Given the description of an element on the screen output the (x, y) to click on. 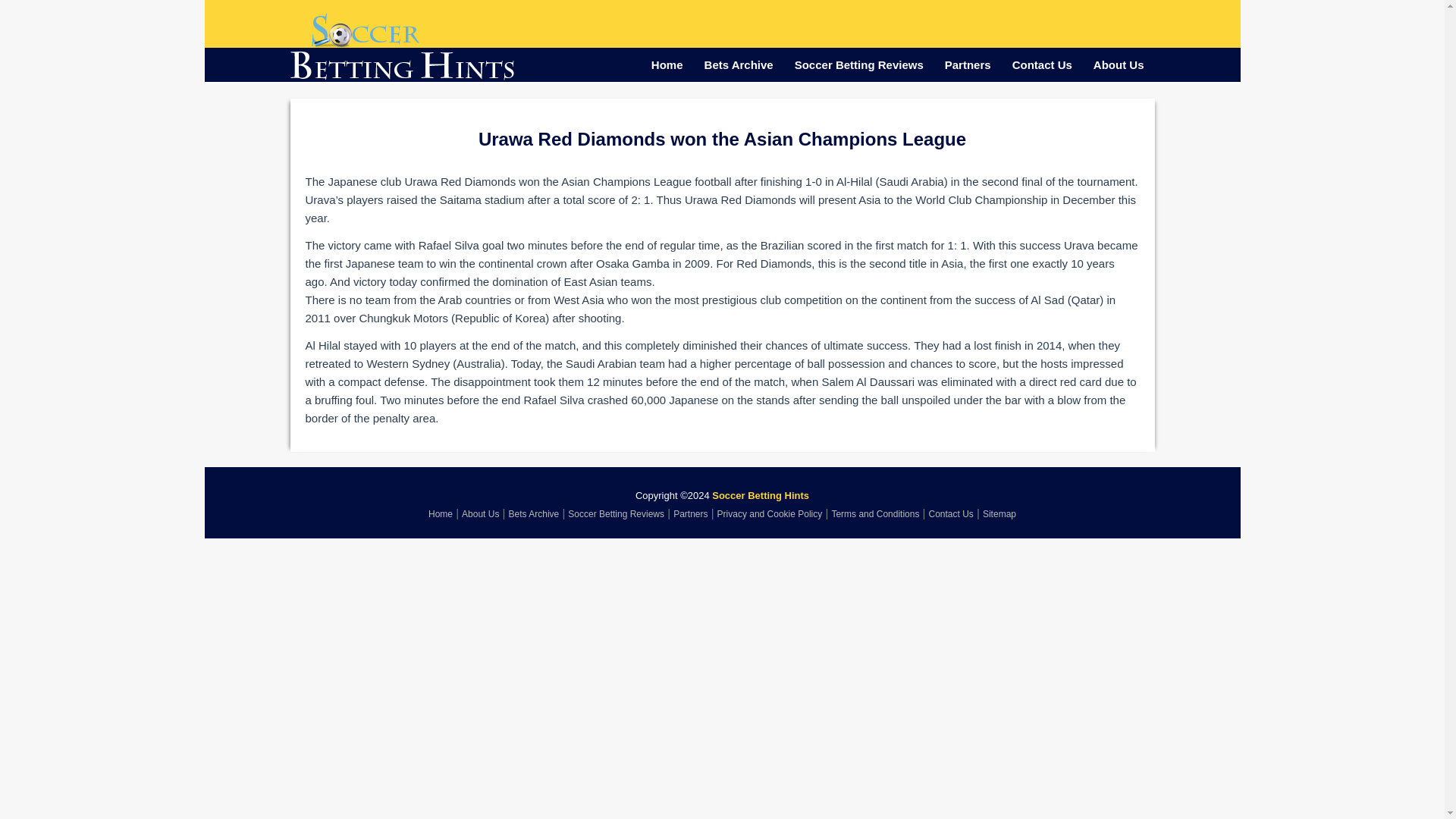
Soccer Betting Reviews (615, 513)
Home (667, 64)
Home (440, 513)
Terms and Conditions (874, 513)
Bets Archive (739, 64)
Sitemap (999, 513)
Privacy and Cookie Policy (769, 513)
Partners (689, 513)
Soccer Betting Hints (760, 495)
Bets Archive (533, 513)
Soccer Betting Reviews (859, 64)
Partners (967, 64)
Soccer Betting Hints (760, 495)
Contact Us (951, 513)
About Us (480, 513)
